Given the description of an element on the screen output the (x, y) to click on. 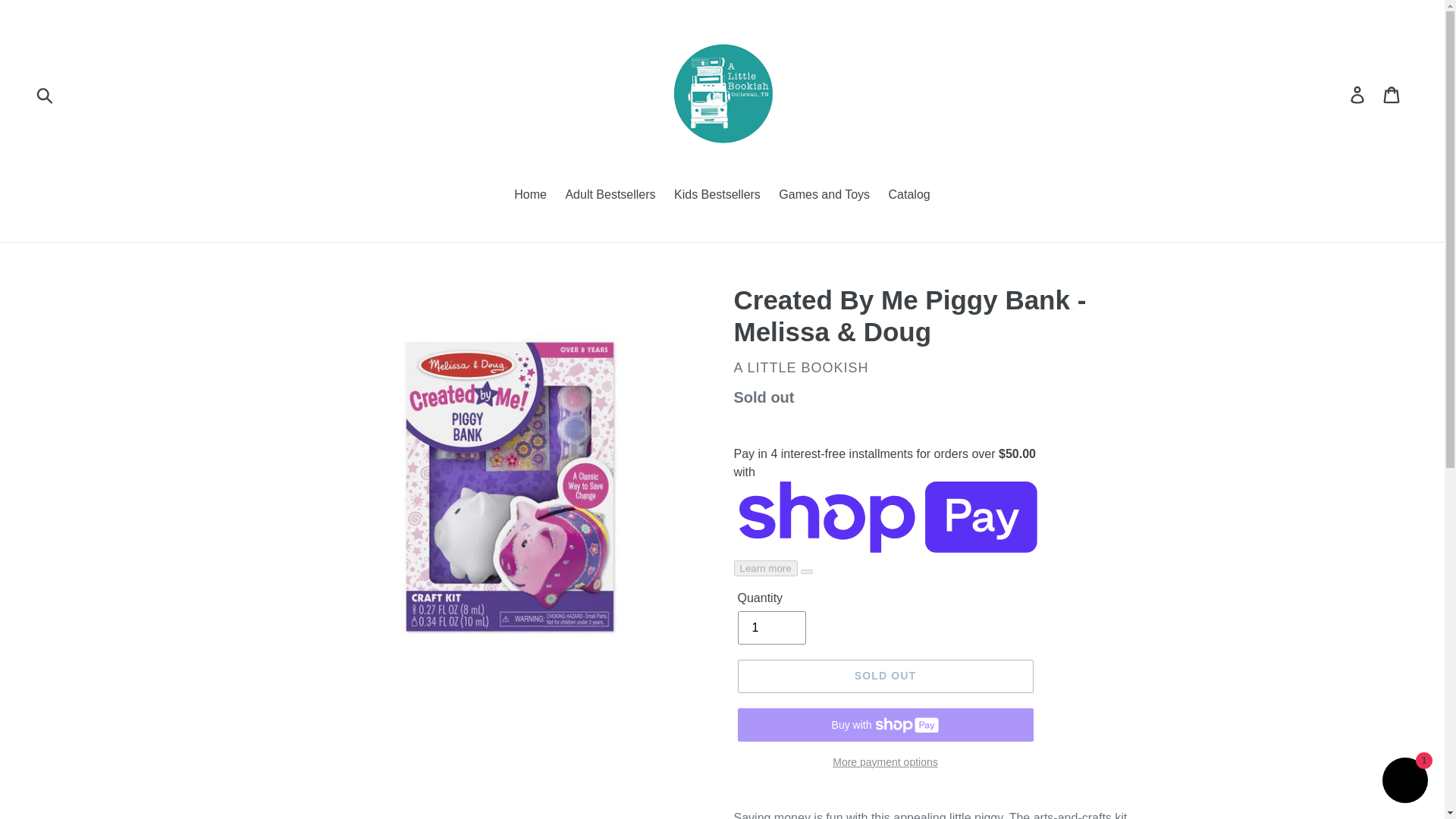
Log in (1357, 94)
Shopify online store chat (1404, 781)
1 (770, 627)
Games and Toys (824, 195)
Submit (45, 94)
More payment options (884, 762)
Catalog (908, 195)
Home (530, 195)
SOLD OUT (884, 676)
Cart (1392, 94)
Adult Bestsellers (609, 195)
Kids Bestsellers (717, 195)
